Given the description of an element on the screen output the (x, y) to click on. 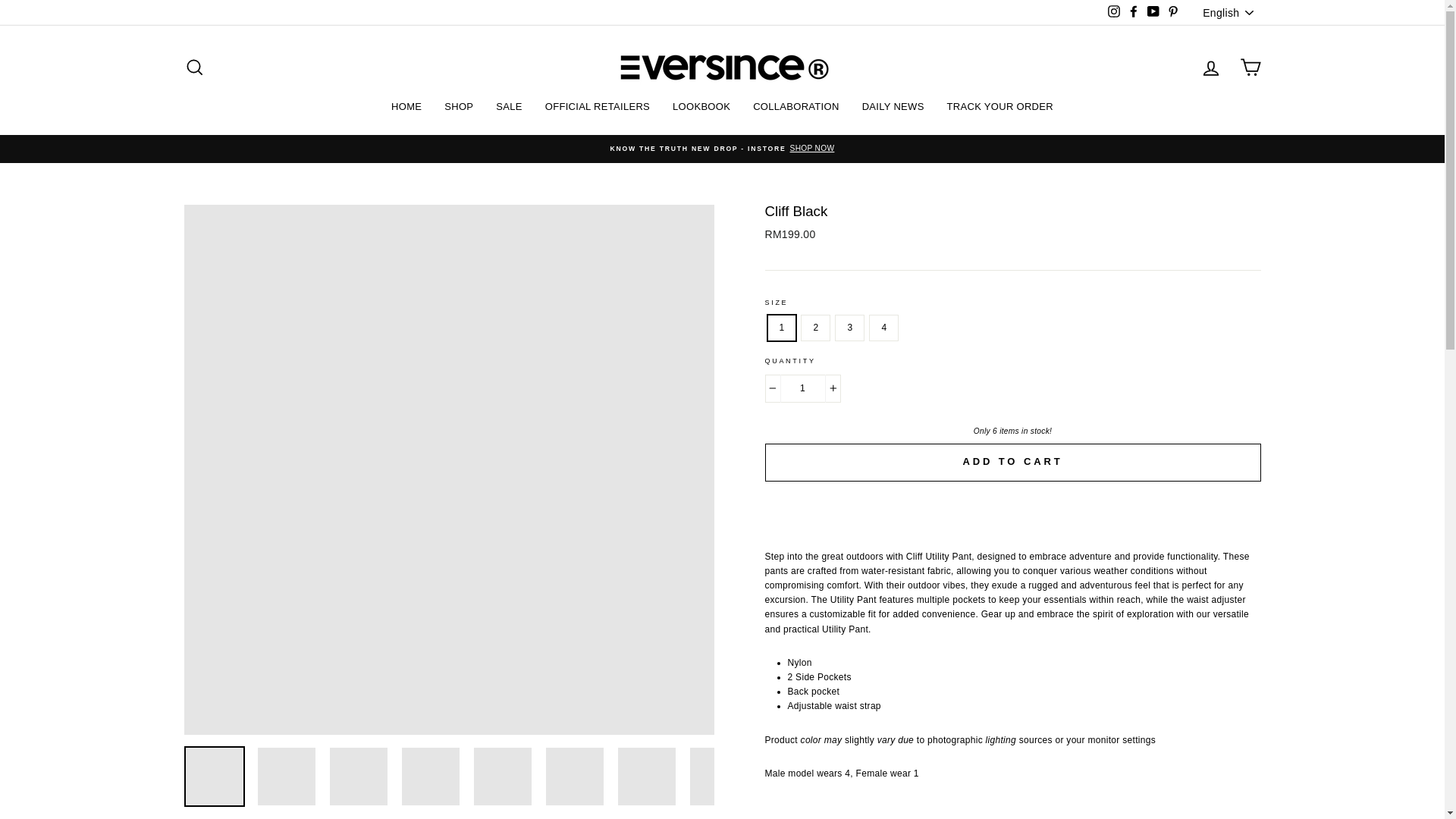
EVERSINCE on Pinterest (1172, 12)
1 (802, 388)
EVERSINCE on Facebook (1133, 12)
Instagram (1113, 12)
English (1229, 12)
Facebook (1133, 12)
